Given the description of an element on the screen output the (x, y) to click on. 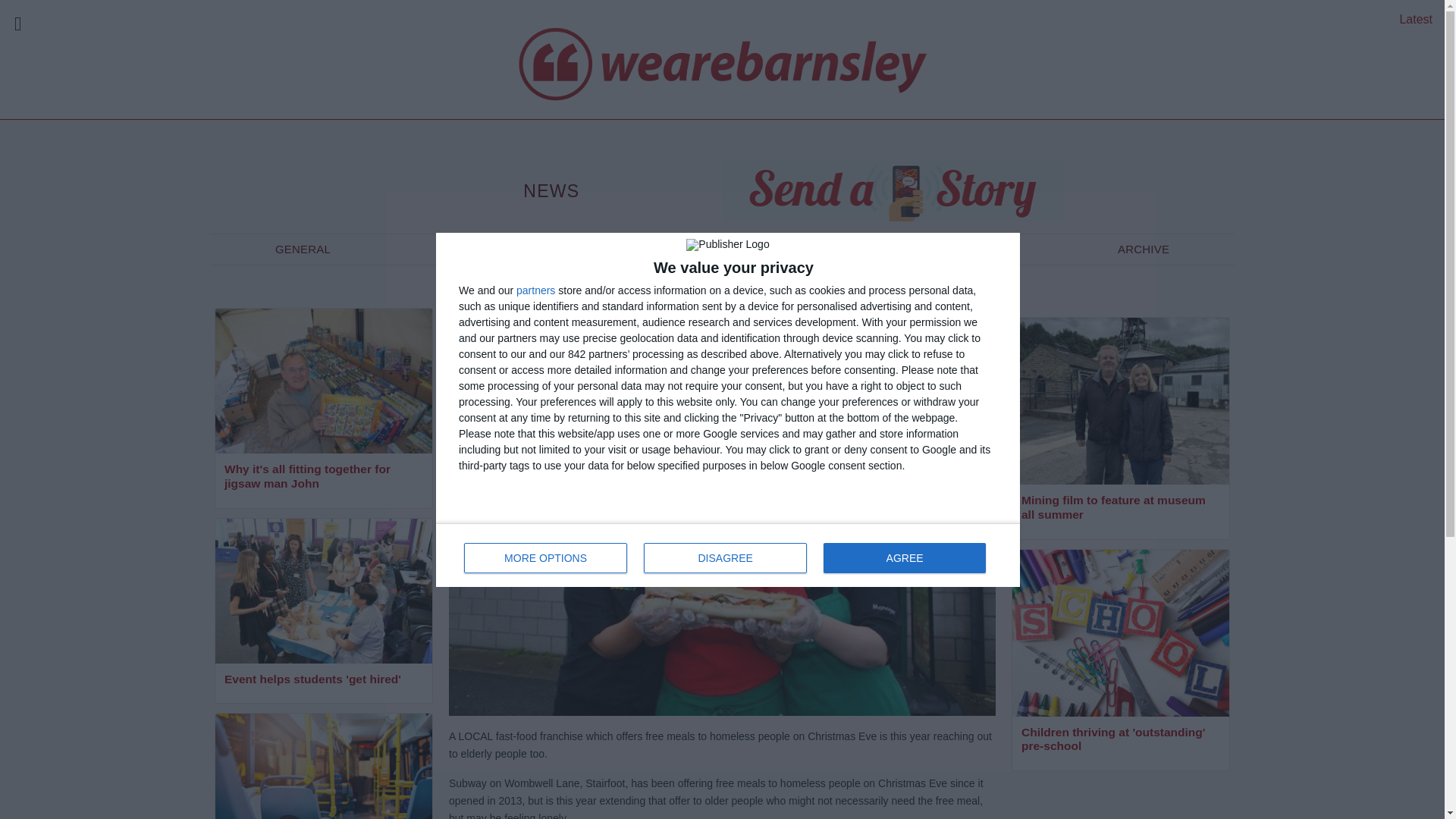
partners (535, 290)
HELPING HAND (705, 249)
AGREE (904, 557)
COMMUNITY (496, 249)
Event helps students 'get hired' (323, 680)
Why it's all fitting together for jigsaw man John (323, 477)
Latest (727, 555)
DISAGREE (1415, 19)
GENERAL (724, 557)
ARCHIVE (302, 249)
MORE OPTIONS (1143, 249)
